Given the description of an element on the screen output the (x, y) to click on. 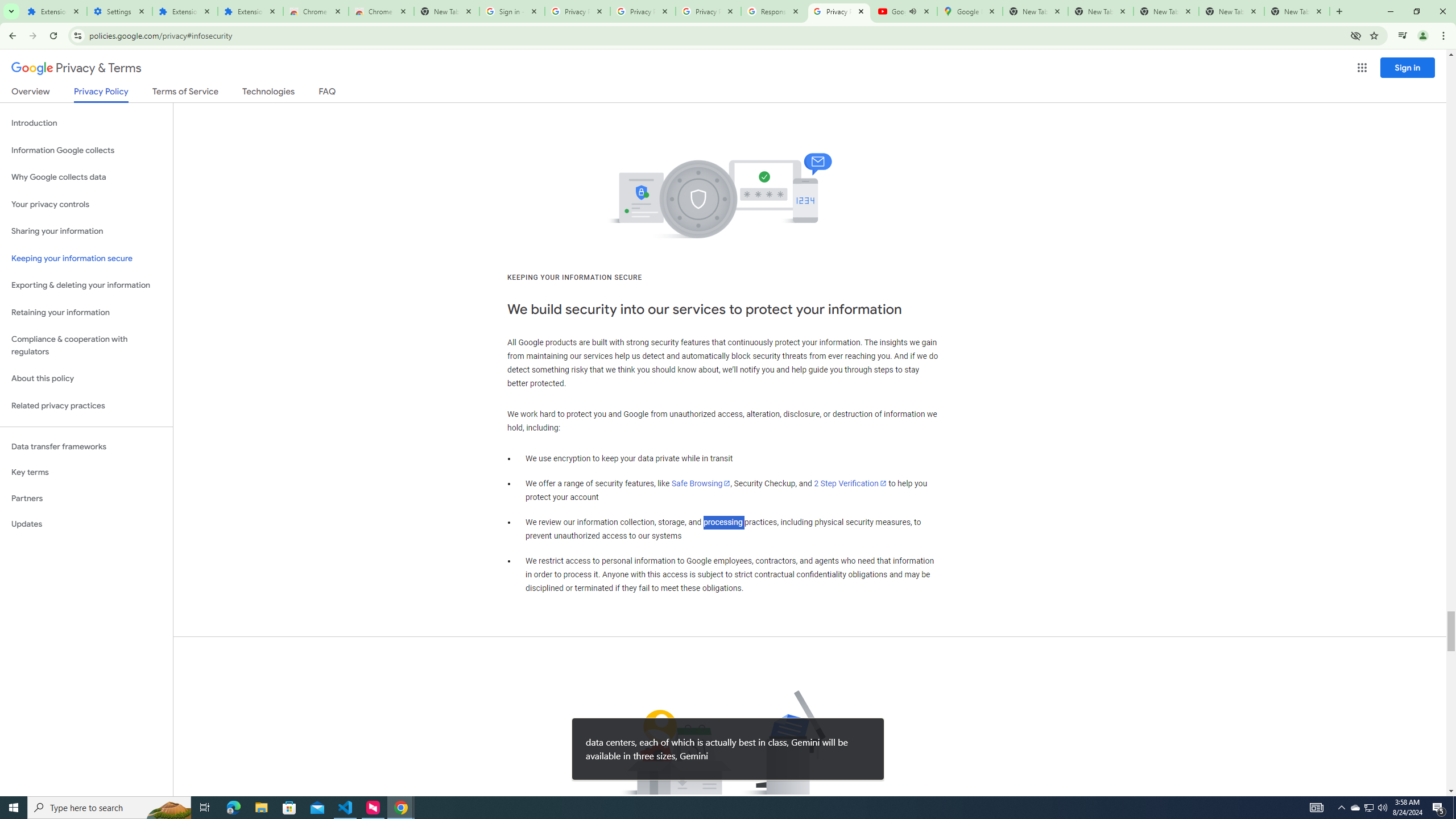
Privacy Policy (100, 94)
Data transfer frameworks (86, 446)
Extensions (53, 11)
2 Step Verification (849, 483)
Retaining your information (86, 312)
Google Maps (969, 11)
